Given the description of an element on the screen output the (x, y) to click on. 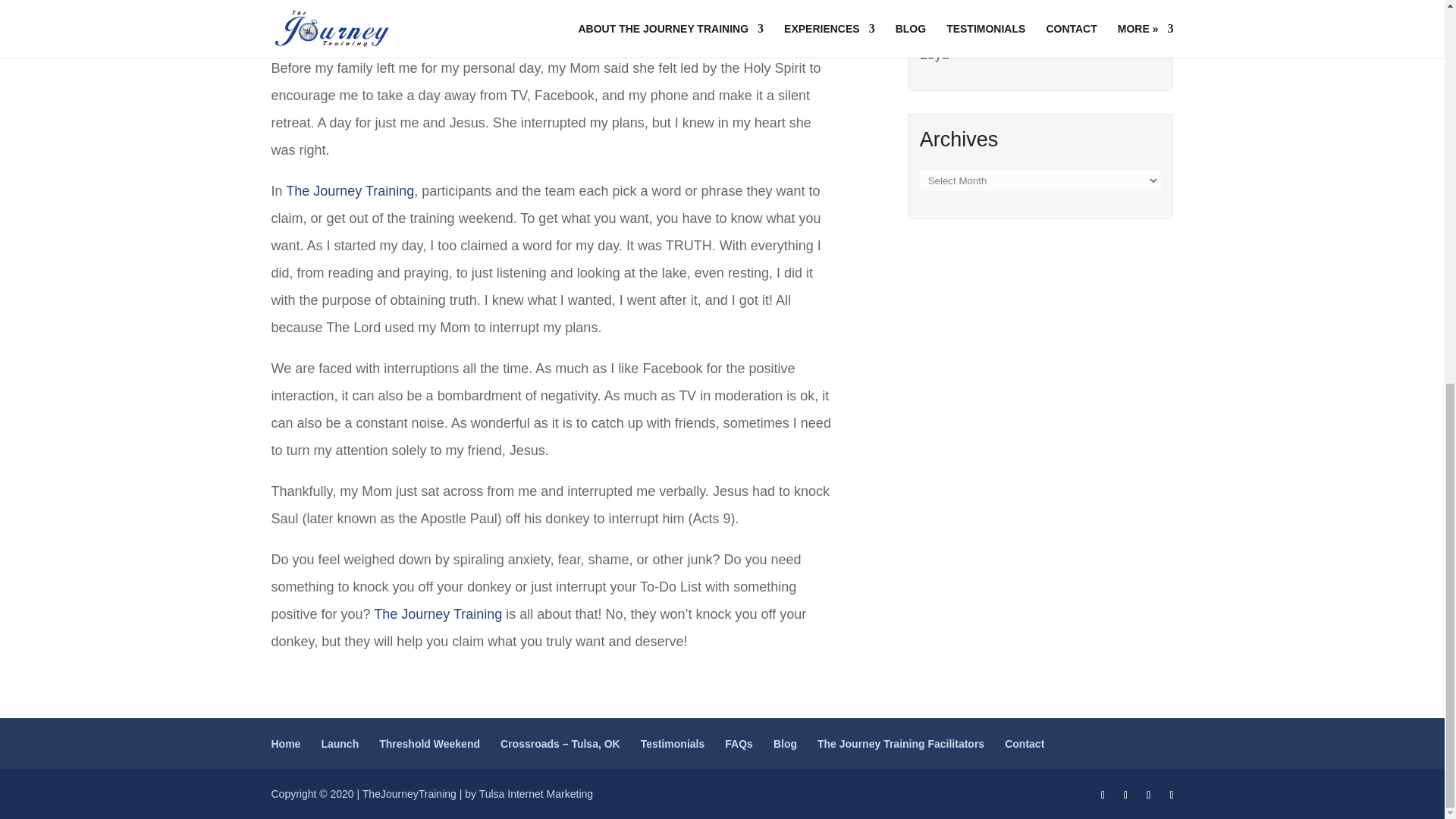
How to Avoid a Croissant By Alison Loyd (1026, 40)
Blog (784, 743)
Home (285, 743)
Testimonials (672, 743)
The Journey Training (349, 191)
Launch (339, 743)
The Journey Training Facilitators (900, 743)
The Journey Training (438, 613)
Contact (1023, 743)
FAQs (738, 743)
Threshold Weekend (429, 743)
